Given the description of an element on the screen output the (x, y) to click on. 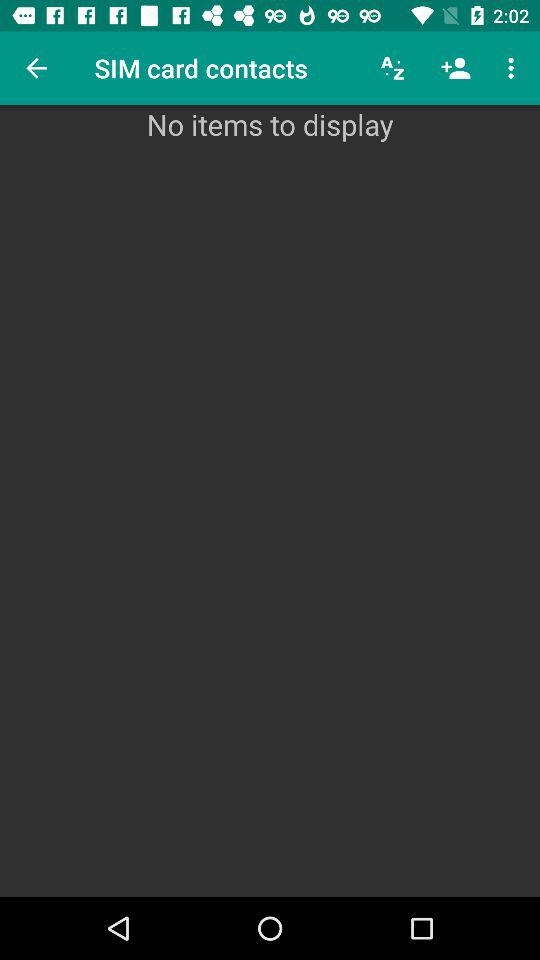
choose the icon to the right of sim card contacts icon (392, 67)
